Given the description of an element on the screen output the (x, y) to click on. 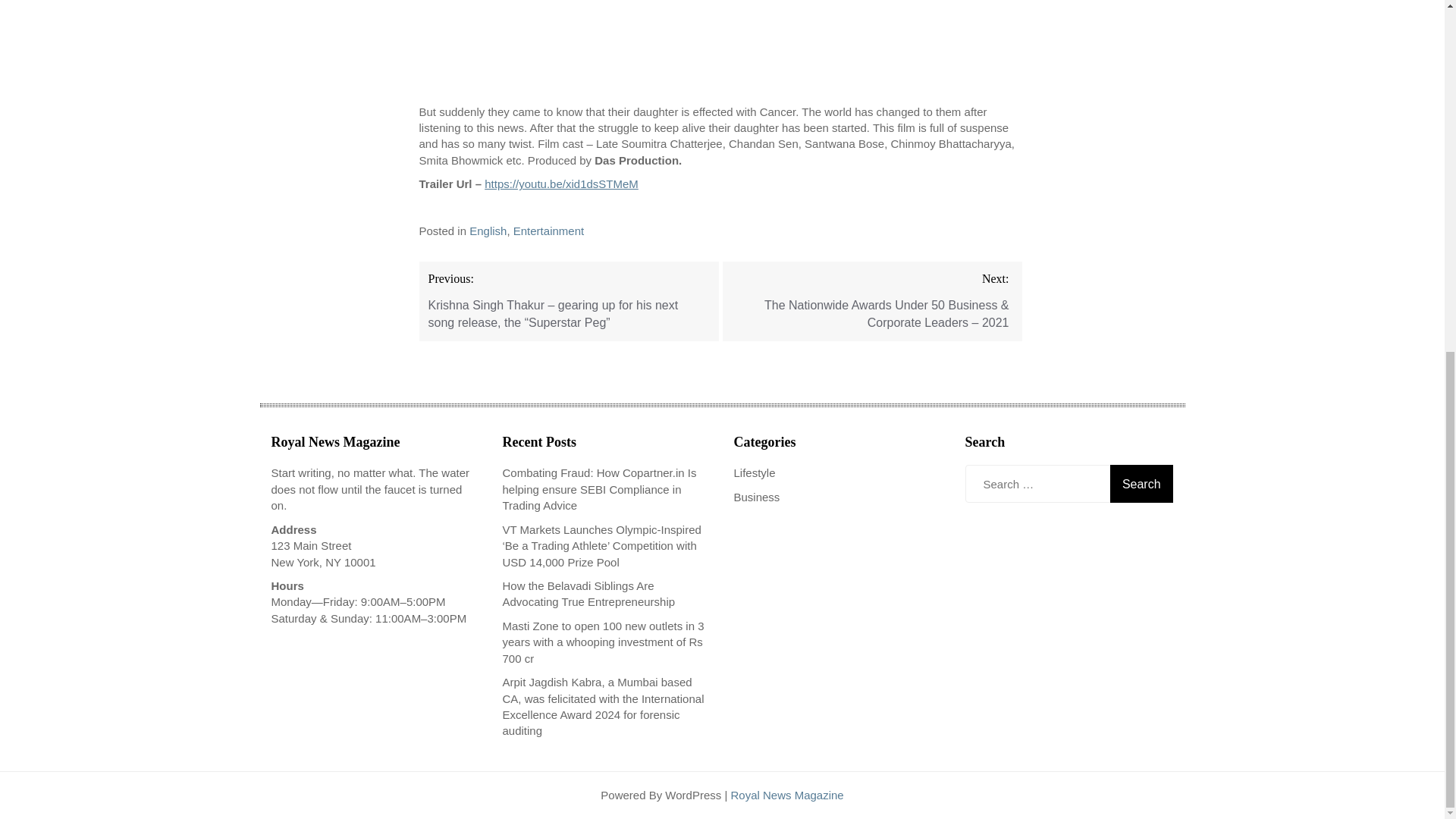
Search (1141, 483)
Search (1141, 483)
English (487, 230)
Entertainment (548, 230)
